Given the description of an element on the screen output the (x, y) to click on. 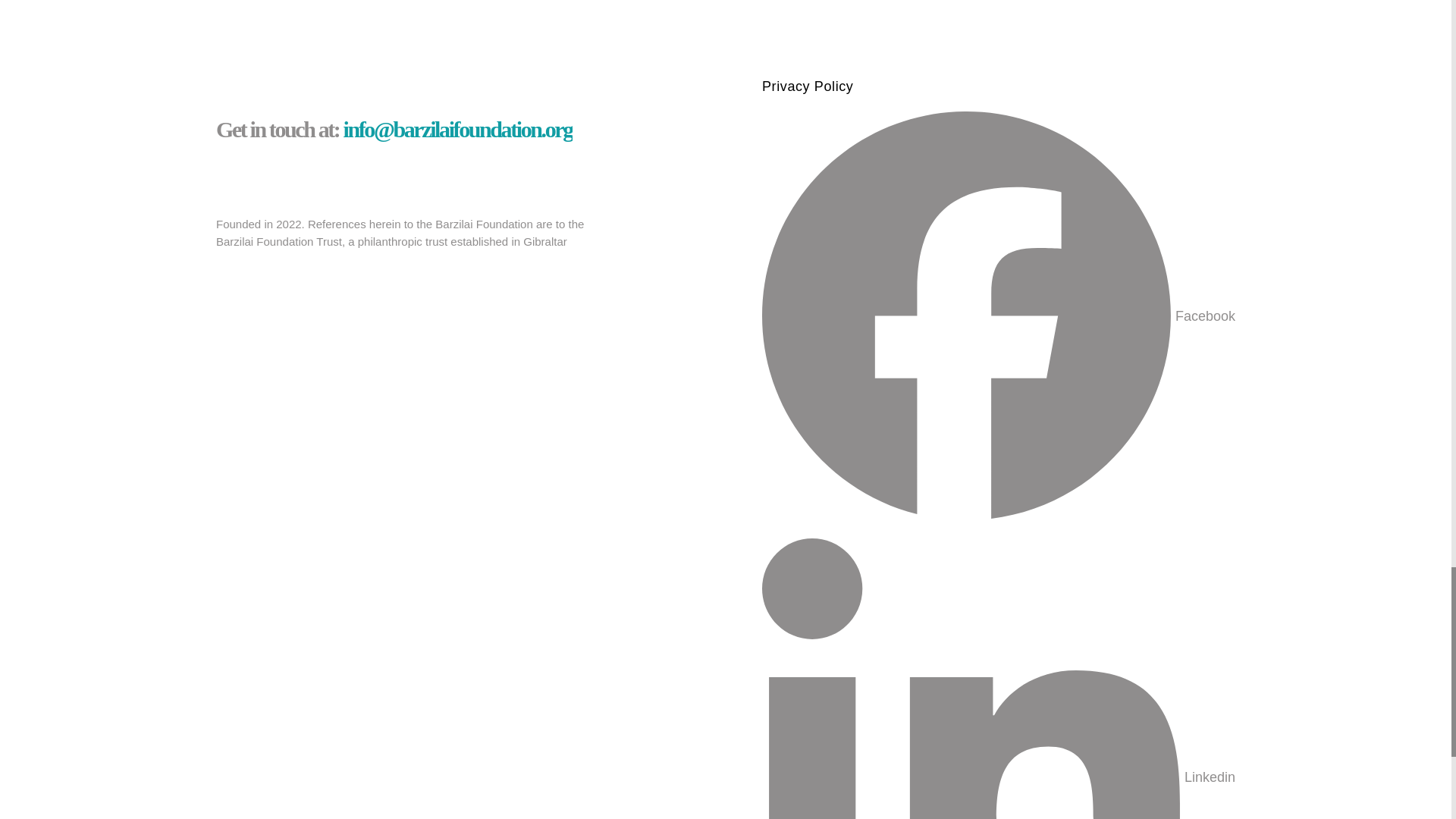
Linkedin (997, 678)
Privacy Policy (997, 86)
